Given the description of an element on the screen output the (x, y) to click on. 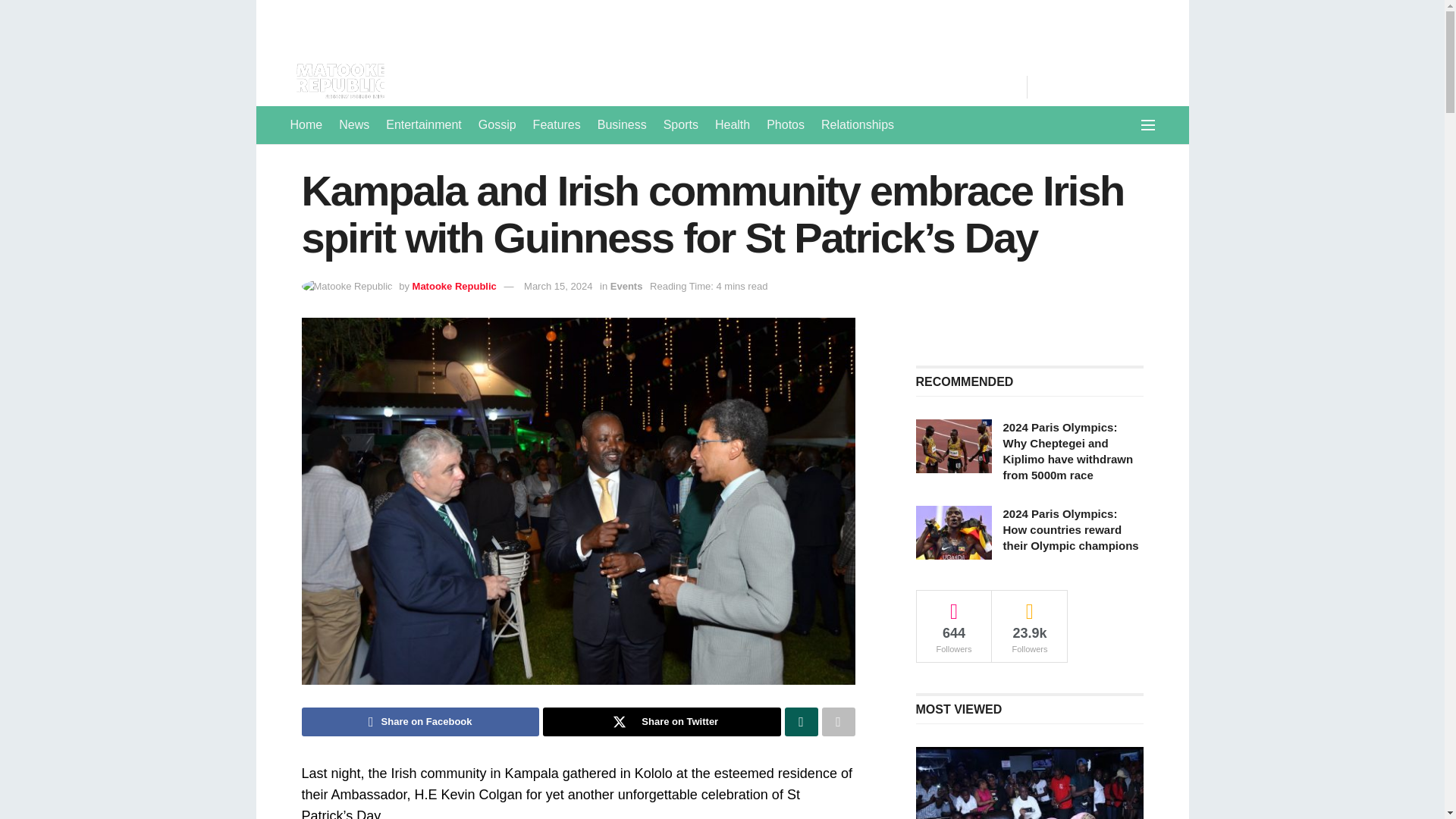
Health (731, 124)
Entertainment (423, 124)
Business (621, 124)
Sports (680, 124)
Gossip (497, 124)
Share on Facebook (420, 721)
Home (305, 124)
Relationships (857, 124)
News (354, 124)
Photos (786, 124)
